Given the description of an element on the screen output the (x, y) to click on. 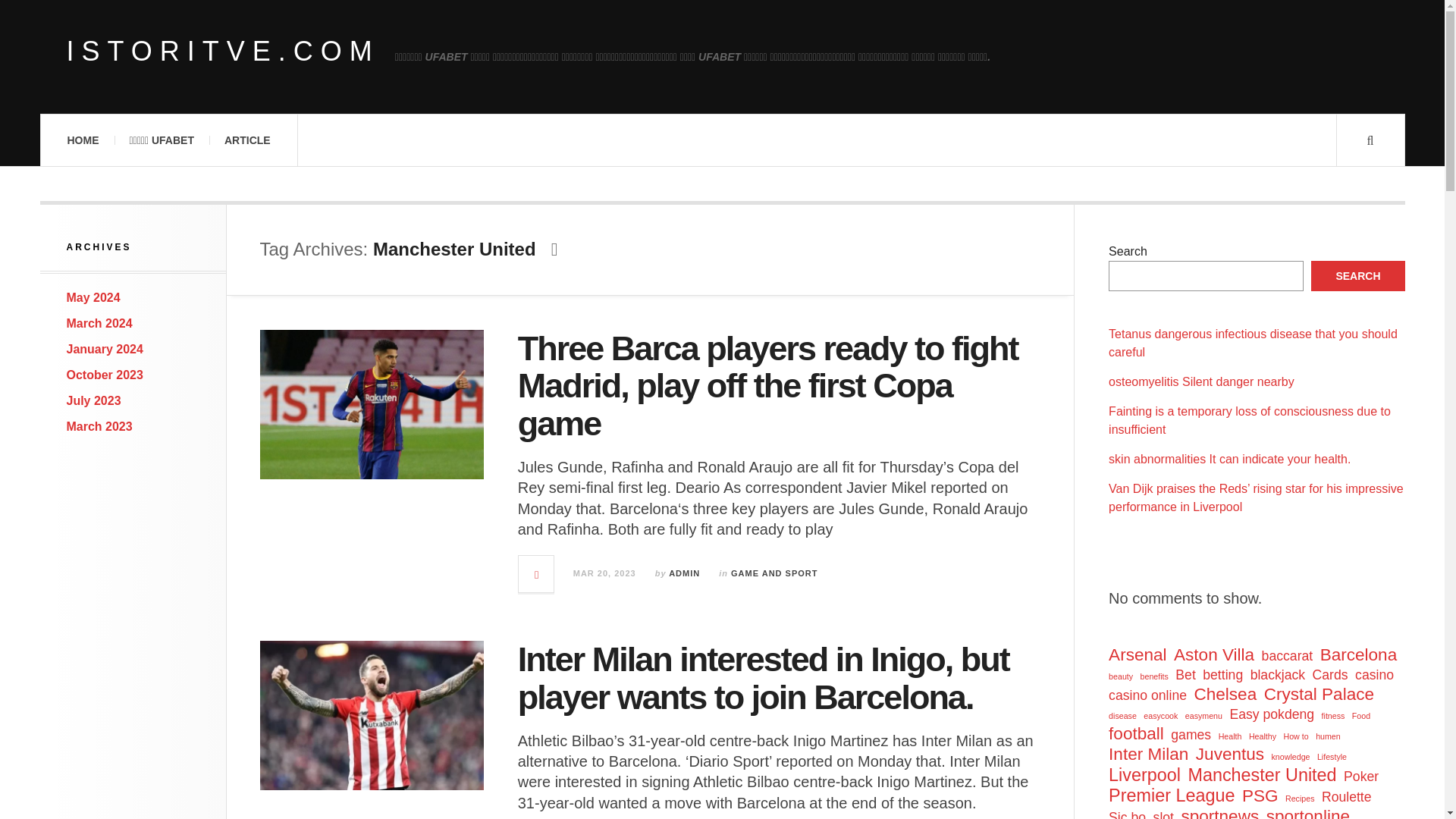
October 2023 (104, 374)
Read More... (536, 574)
January 2024 (104, 349)
ARTICLE (247, 140)
July 2023 (93, 400)
View all posts in Game and Sport (773, 573)
GAME AND SPORT (773, 573)
March 2023 (99, 426)
HOME (81, 140)
istoritve.com (223, 51)
May 2024 (93, 297)
Posts by admin (684, 573)
ISTORITVE.COM (223, 51)
